Given the description of an element on the screen output the (x, y) to click on. 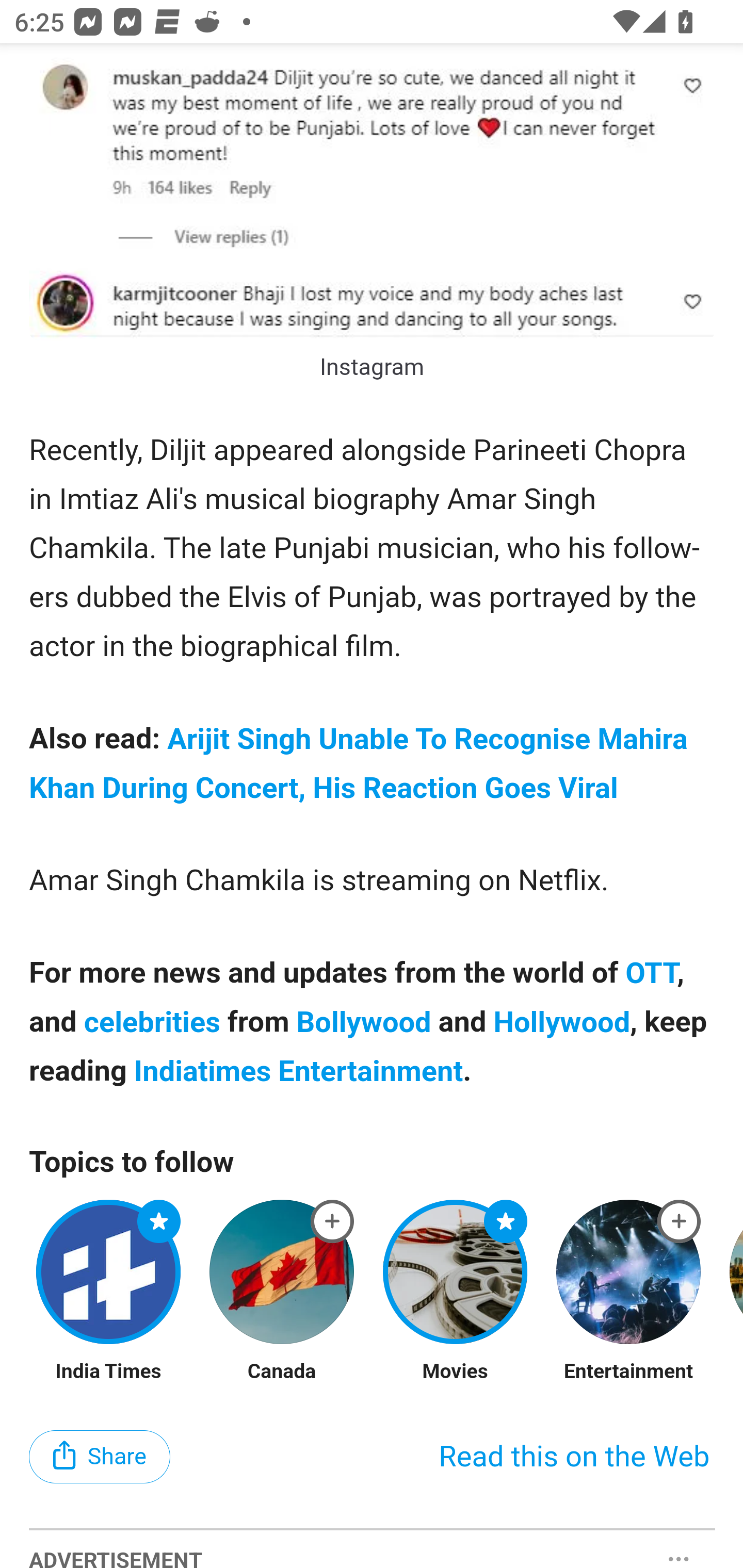
OTT (651, 974)
celebrities (152, 1023)
Bollywood (363, 1023)
Hollywood (562, 1023)
Indiatimes Entertainment (298, 1072)
India Times (108, 1373)
Canada (281, 1373)
Movies (454, 1373)
Entertainment (628, 1373)
Read this on the Web (573, 1459)
Share (99, 1457)
